Given the description of an element on the screen output the (x, y) to click on. 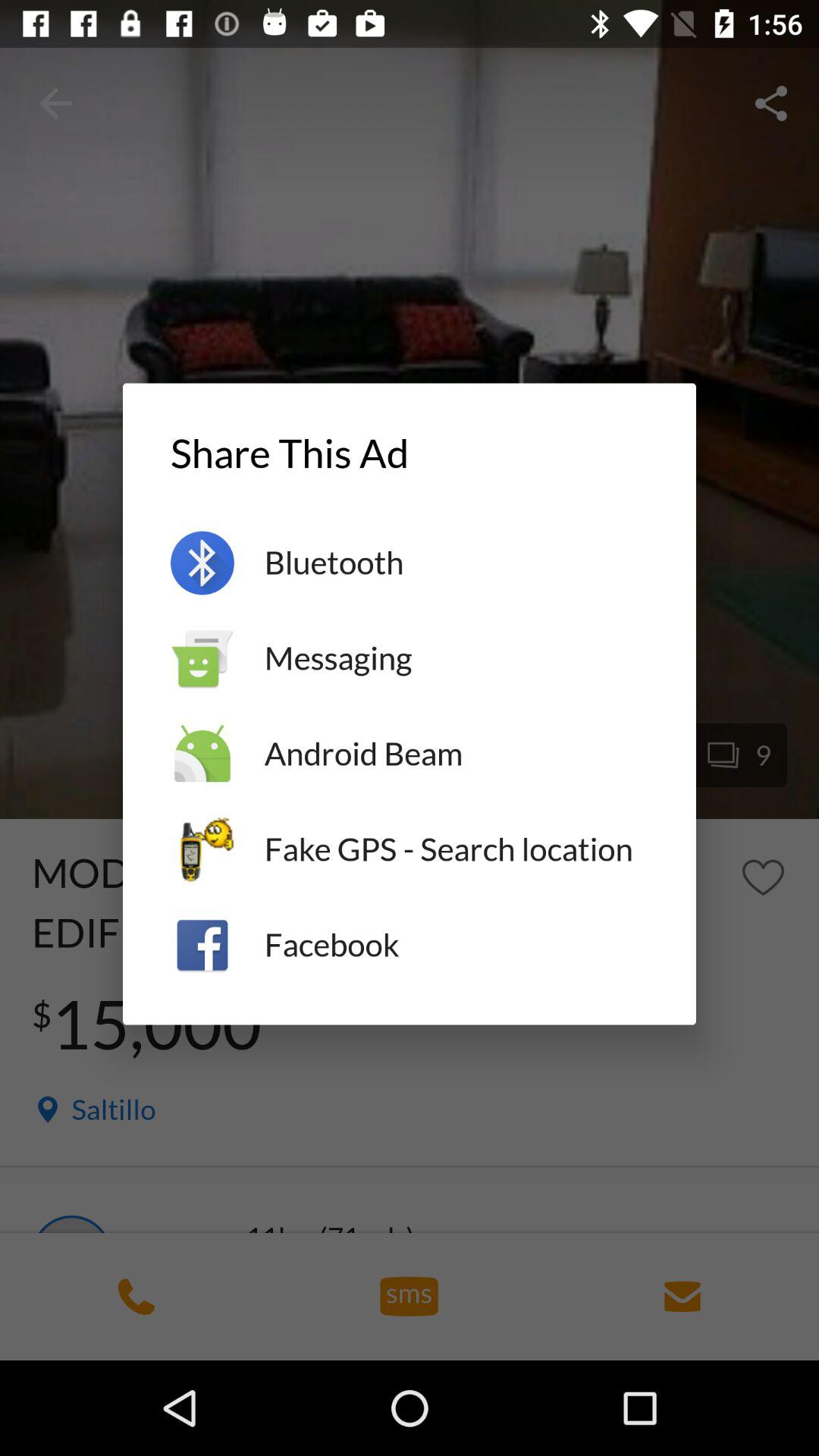
choose the item below messaging (456, 753)
